Given the description of an element on the screen output the (x, y) to click on. 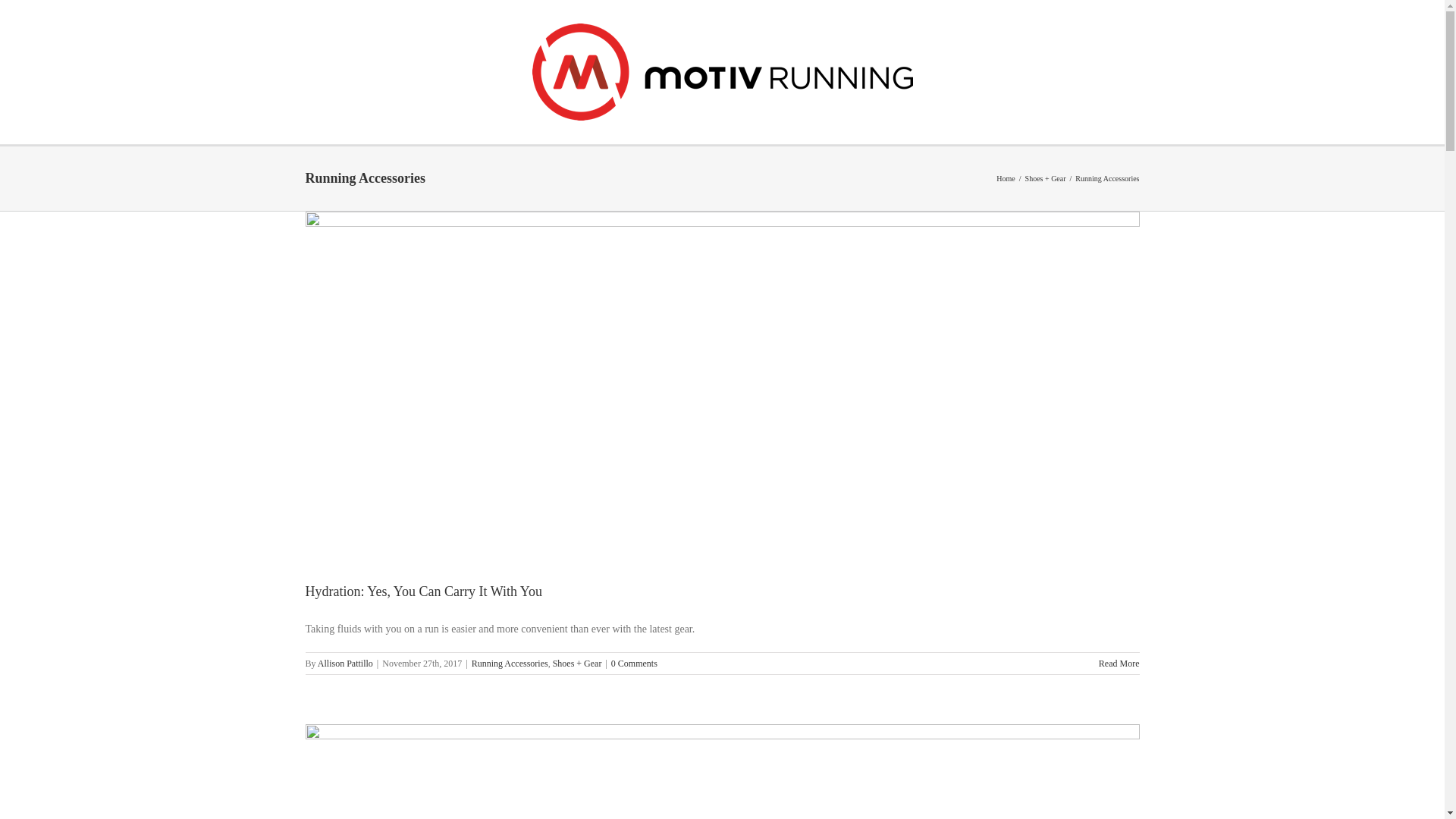
Posts by Allison Pattillo (344, 663)
Running Accessories (509, 663)
Home (1004, 178)
0 Comments (634, 663)
Read More (1119, 663)
Hydration: Yes, You Can Carry It With You (422, 590)
Allison Pattillo (344, 663)
